Given the description of an element on the screen output the (x, y) to click on. 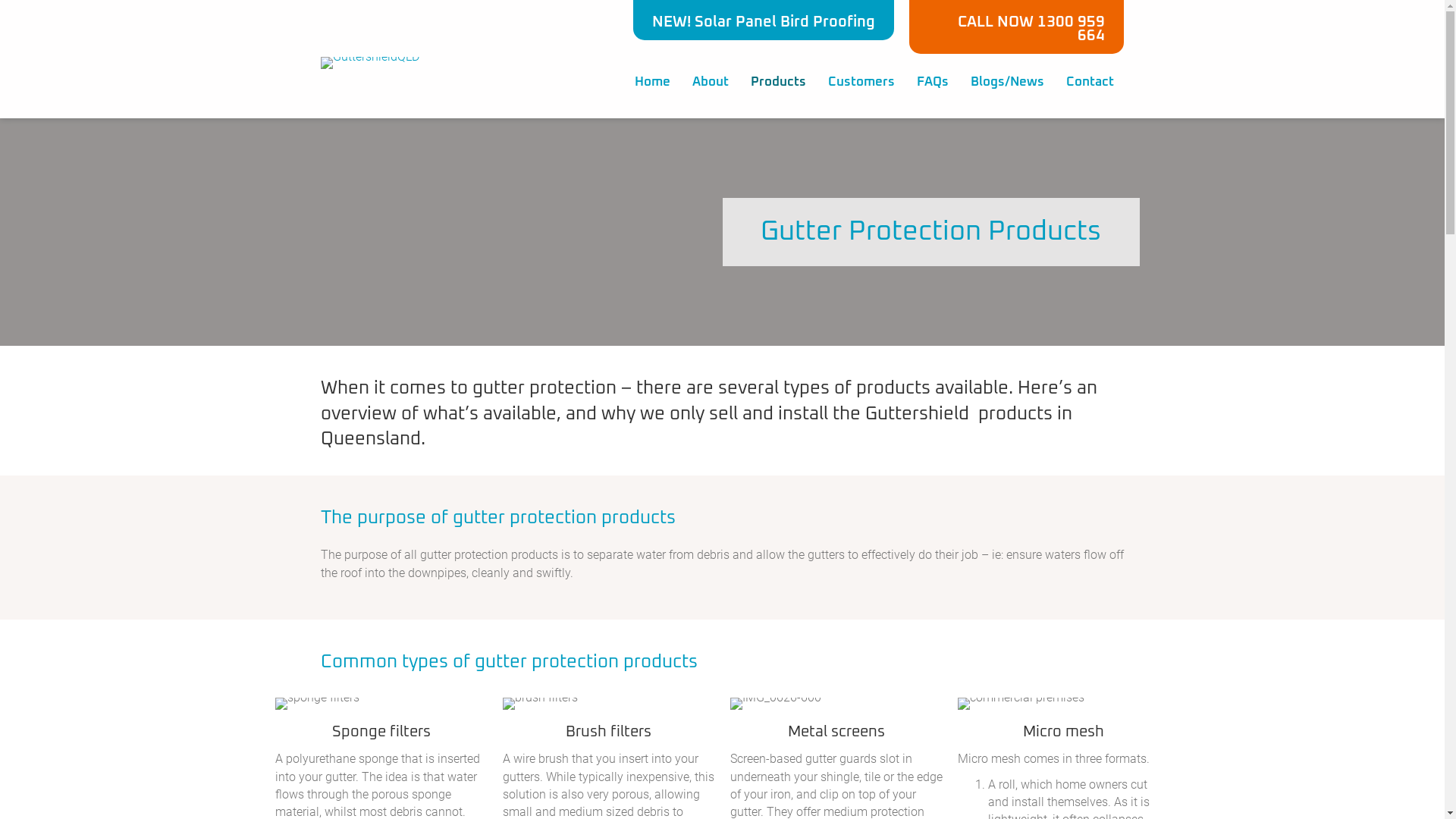
Contact Element type: text (1089, 82)
CALL NOW 1300 959 664 Element type: text (1016, 26)
Products 3 Element type: hover (1020, 703)
Products 1 Element type: hover (316, 703)
Blogs/News Element type: text (1007, 82)
Customers Element type: text (861, 82)
FAQs Element type: text (931, 82)
Home Element type: text (651, 82)
Products 2 Element type: hover (539, 703)
Products Element type: text (778, 82)
GuttershieldQLD Element type: hover (369, 62)
NEW! Solar Panel Bird Proofing Element type: text (763, 20)
About Element type: text (709, 82)
IMG_0626-600 Element type: hover (774, 703)
